Given the description of an element on the screen output the (x, y) to click on. 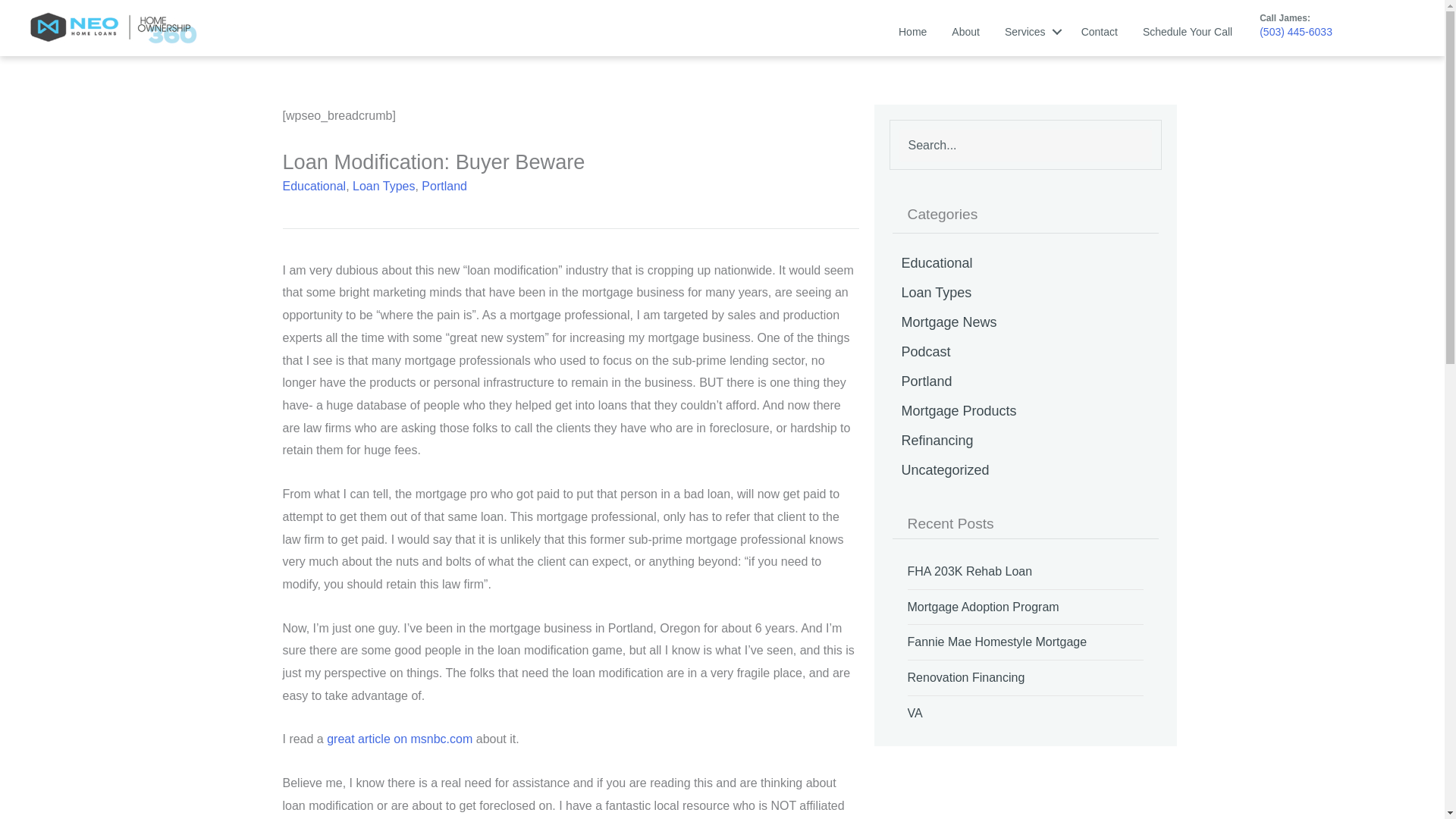
mobile-logo (113, 28)
About (965, 31)
Services (1030, 31)
FHA 203K Rehab Loan (969, 570)
Podcast (1025, 351)
Fannie Mae Homestyle Mortgage (997, 641)
Loan Types (1025, 292)
Mortgage News (1025, 321)
great article on msnbc.com (398, 738)
Portland (444, 185)
Uncategorized (1025, 469)
Educational (1025, 262)
Loan Types (383, 185)
Contact (1098, 31)
Mortgage Adoption Program (983, 606)
